Given the description of an element on the screen output the (x, y) to click on. 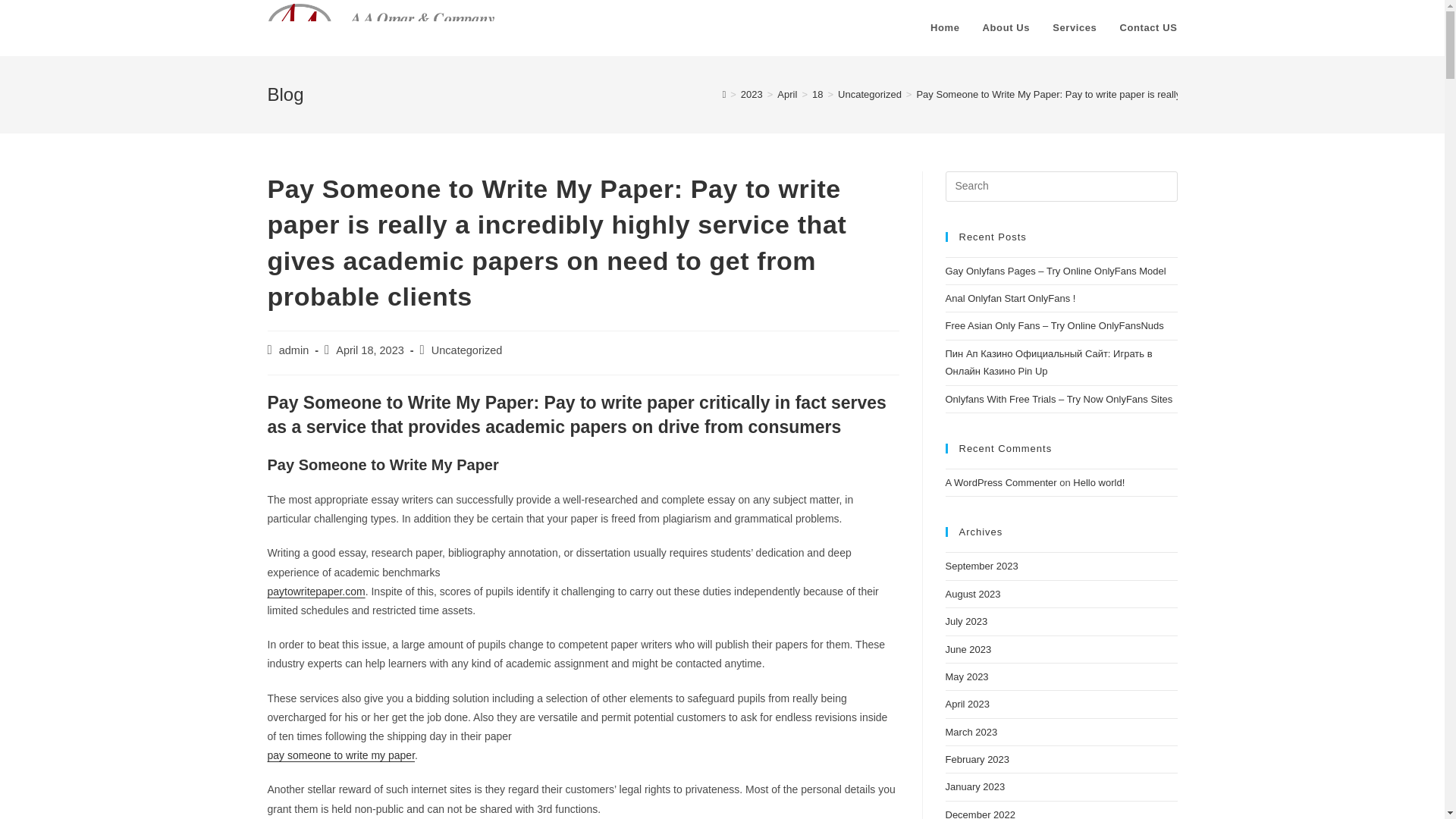
April (786, 93)
2023 (751, 93)
Uncategorized (466, 349)
Uncategorized (869, 93)
Services (1074, 28)
Posts by admin (293, 349)
Contact US (1148, 28)
pay someone to write my paper (340, 755)
Home (944, 28)
Anal Onlyfan Start OnlyFans ! (1009, 297)
